Given the description of an element on the screen output the (x, y) to click on. 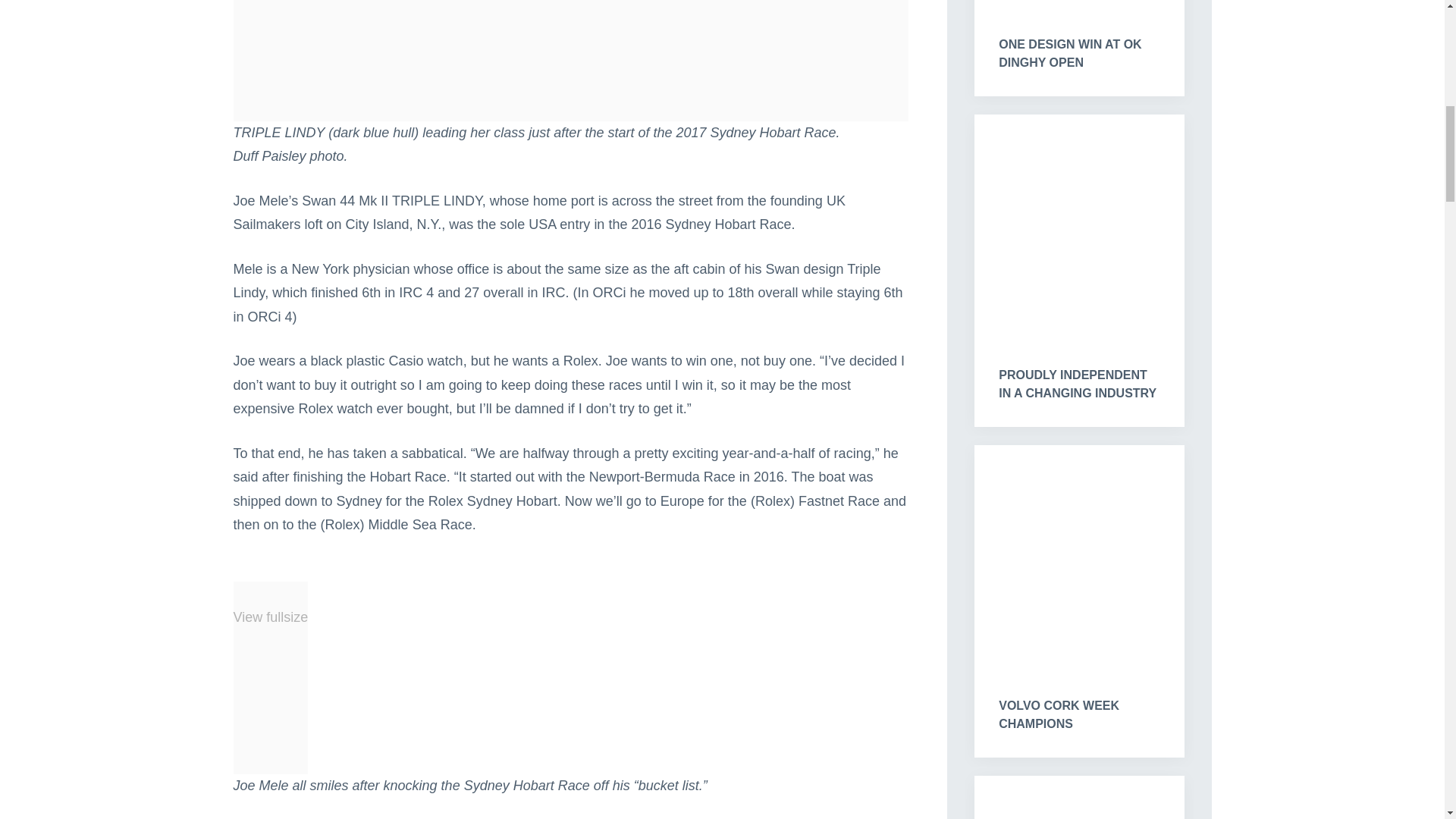
ONE DESIGN WIN AT OK DINGHY OPEN 6 (1078, 5)
LESSONS LEARNED WITH CHRISTIAN WILLIAMS 9 (1078, 796)
View fullsize (570, 60)
PROUDLY INDEPENDENT IN A CHANGING INDUSTRY 7 (1078, 227)
VOLVO CORK WEEK CHAMPIONS 8 (1078, 557)
